Given the description of an element on the screen output the (x, y) to click on. 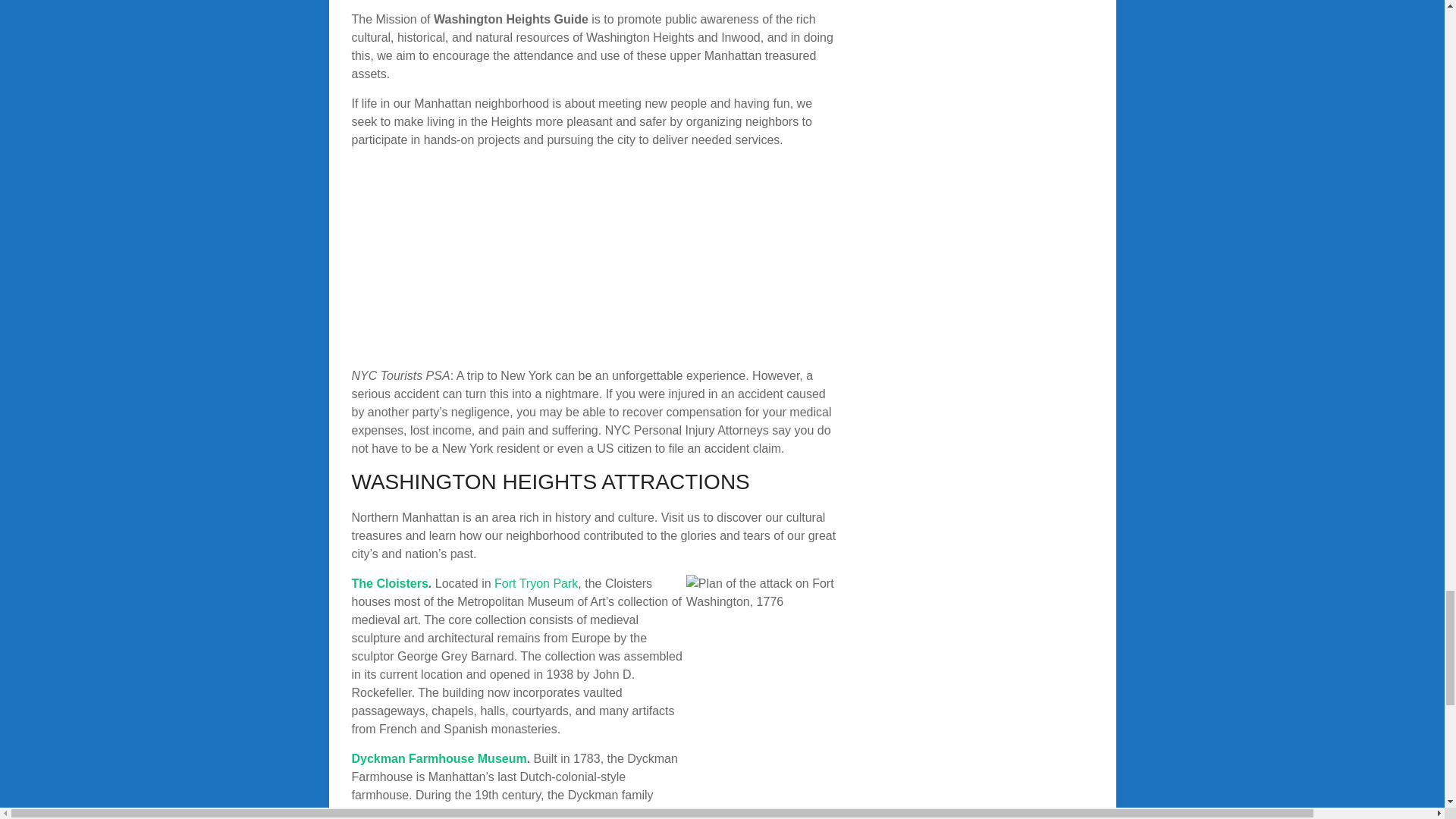
The Cloisters (390, 583)
